Given the description of an element on the screen output the (x, y) to click on. 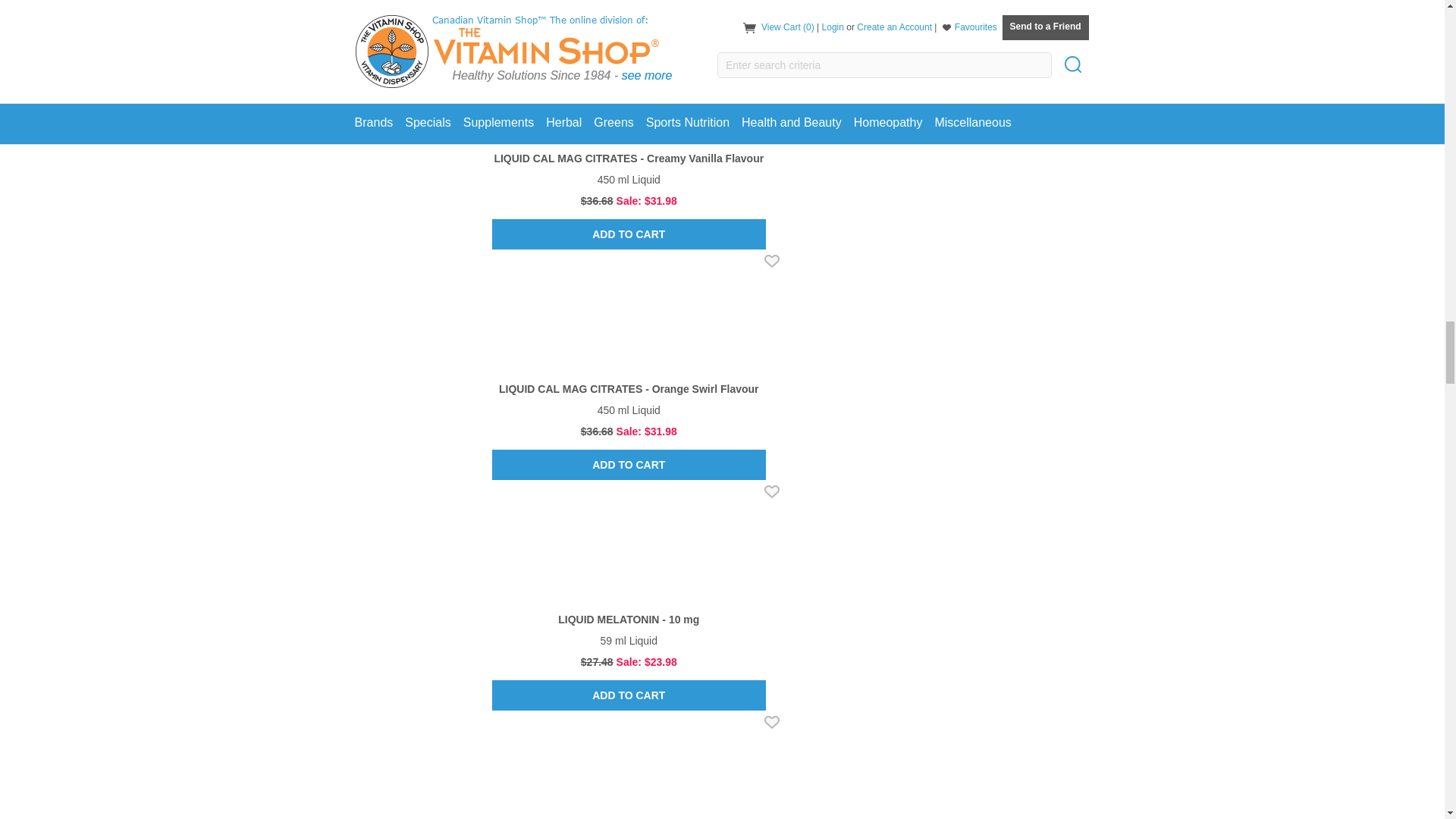
Add to Favourites (771, 30)
Add to Favourites (771, 721)
Add to Favourites (771, 260)
Add to Favourites (771, 491)
